Given the description of an element on the screen output the (x, y) to click on. 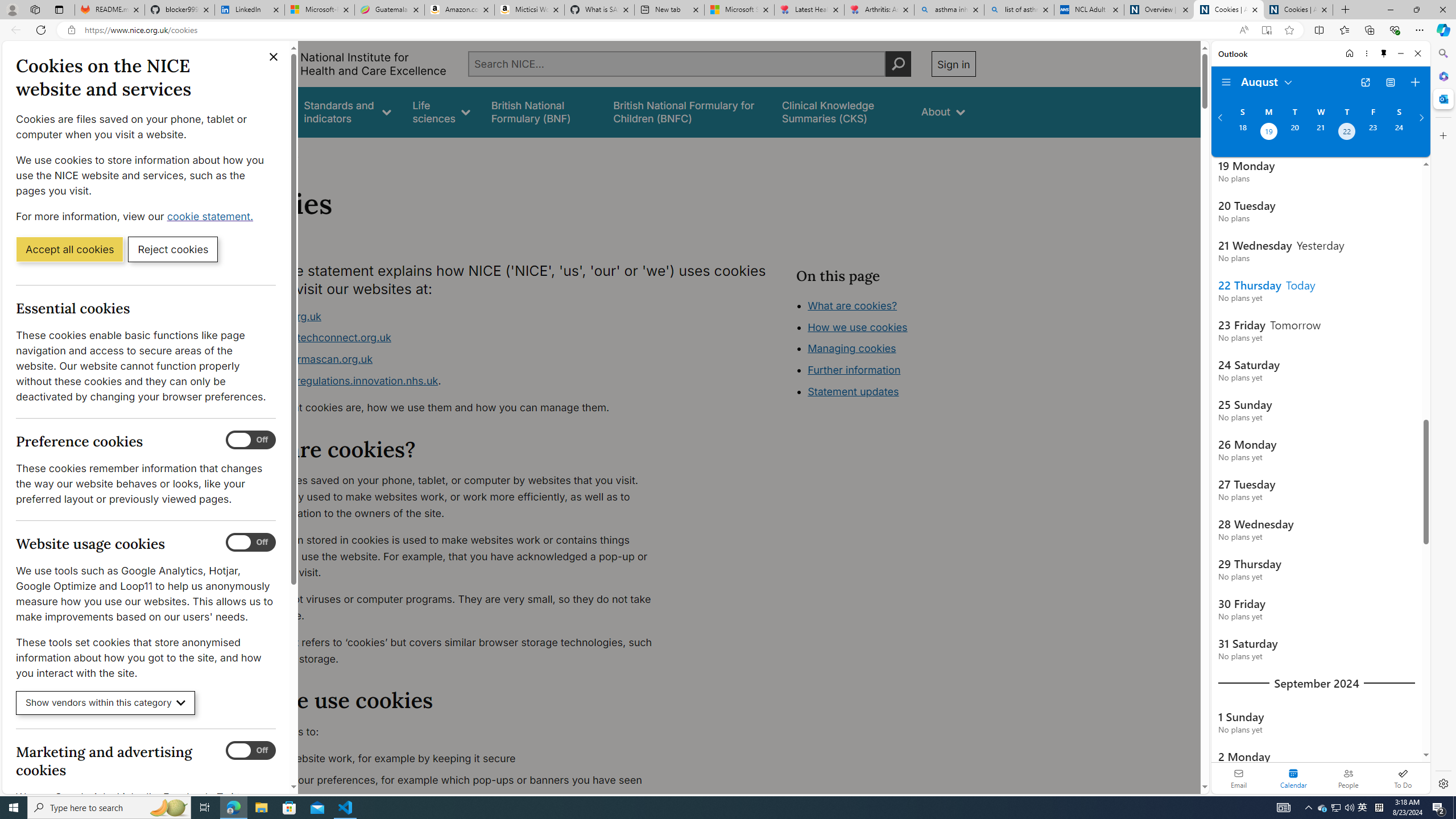
Sunday, August 18, 2024.  (1242, 132)
Accept all cookies (69, 248)
Selected calendar module. Date today is 22 (1293, 777)
Arthritis: Ask Health Professionals (879, 9)
Cookies | About | NICE (1297, 9)
www.healthtechconnect.org.uk (314, 337)
